Given the description of an element on the screen output the (x, y) to click on. 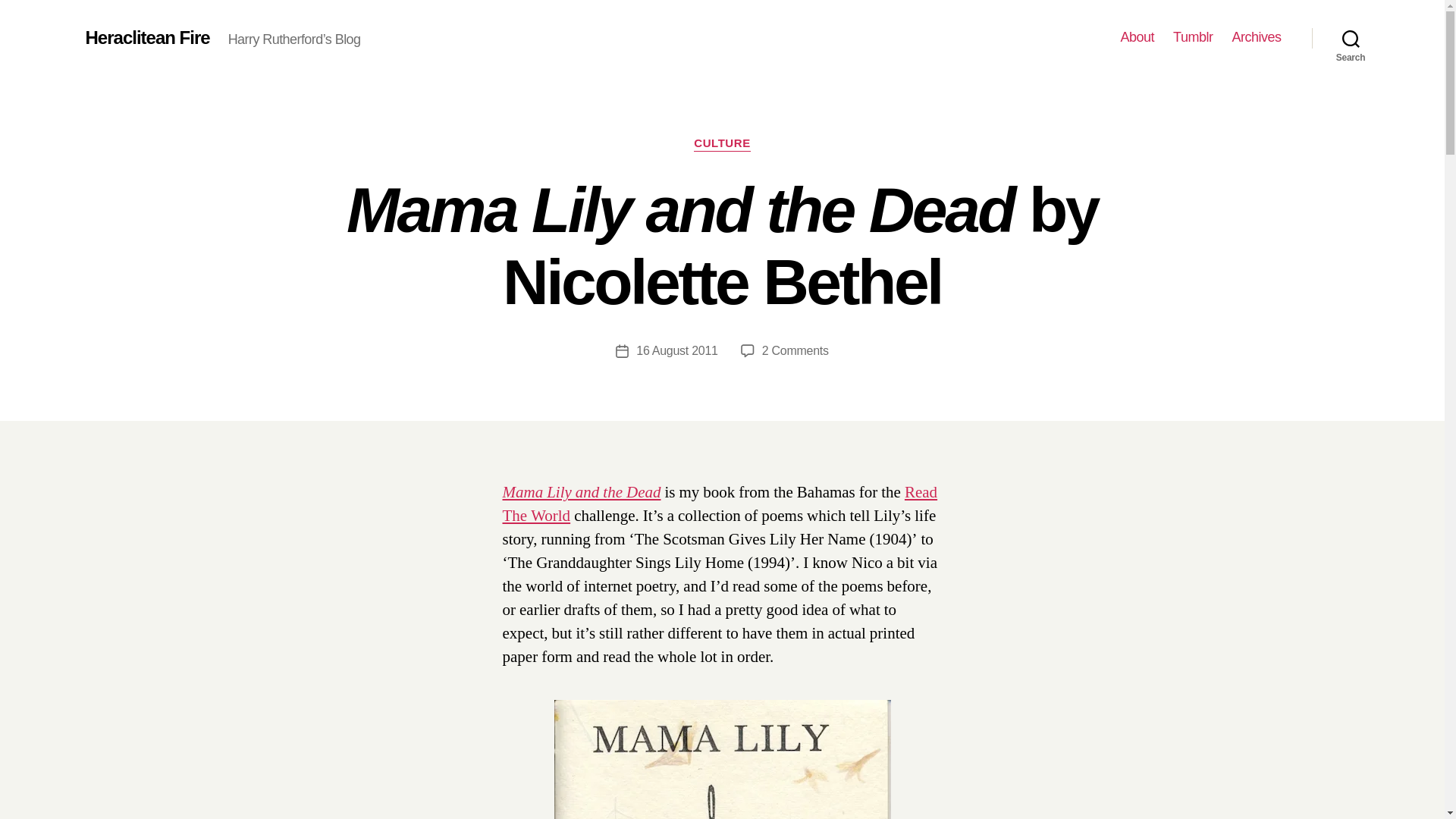
Read The World (719, 504)
CULTURE (794, 350)
Tumblr (721, 143)
Read The World challenge (1192, 37)
MLatD2 (719, 504)
16 August 2011 (721, 759)
About (676, 350)
Archives (1137, 37)
Mama Lily and the Dead (1256, 37)
Heraclitean Fire (581, 492)
Search (146, 37)
